Given the description of an element on the screen output the (x, y) to click on. 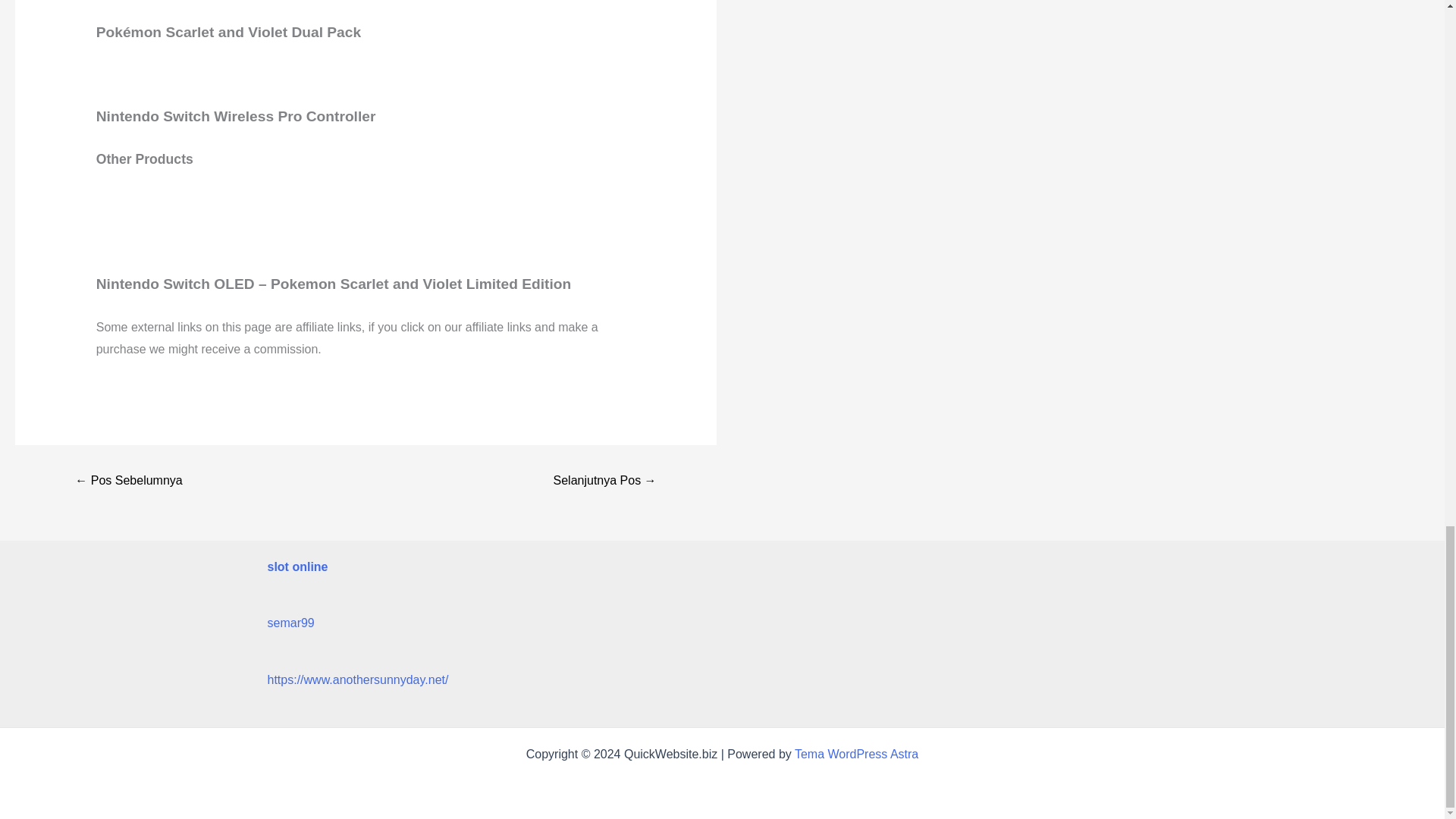
Tema WordPress Astra (856, 753)
semar99 (290, 622)
slot online (296, 566)
Manfaat Puasa Senin Kamis untuk Kesehatan Serta Keutamaanya (128, 480)
